Given the description of an element on the screen output the (x, y) to click on. 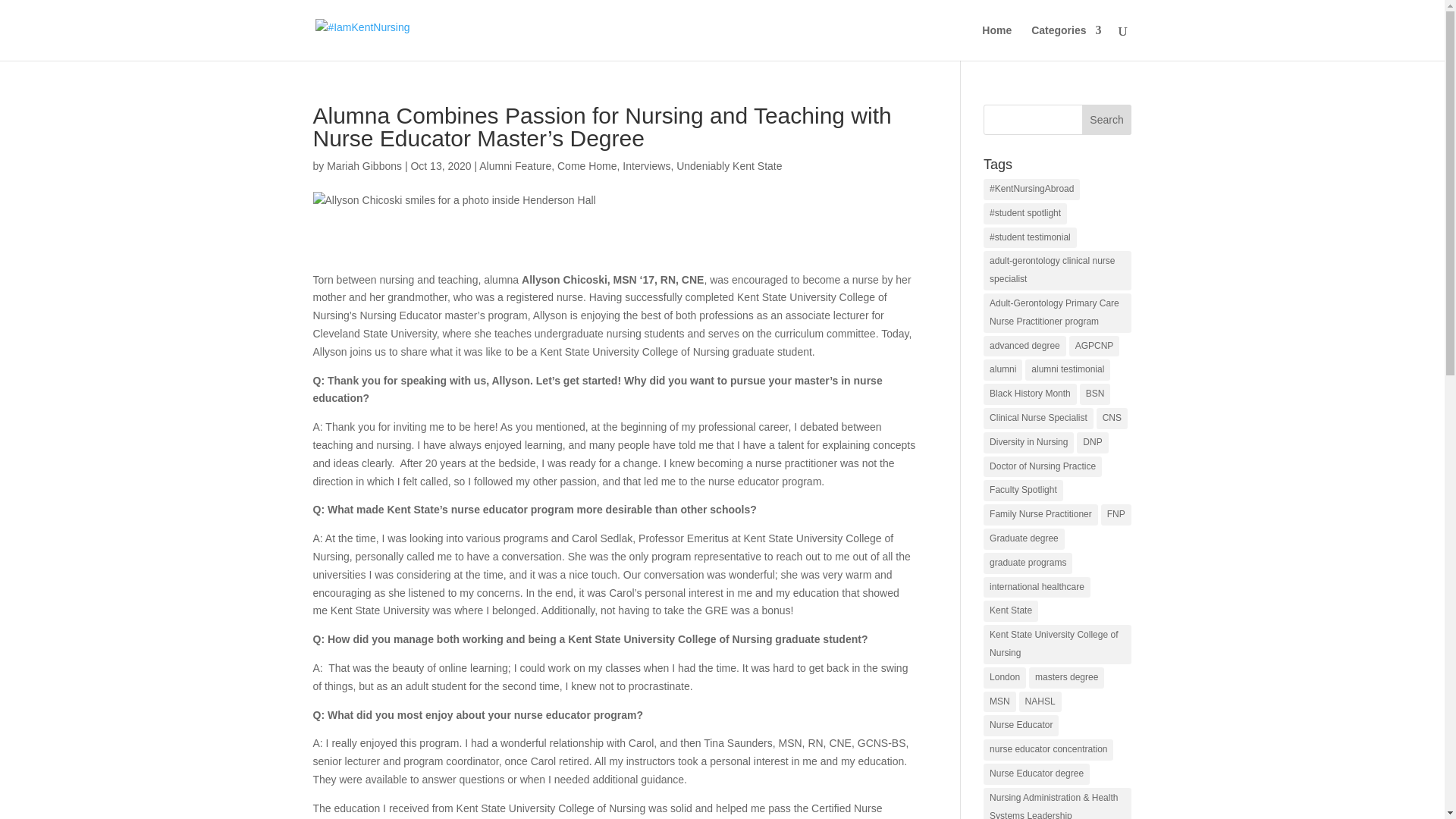
alumni testimonial (1067, 369)
Come Home (587, 165)
advanced degree (1024, 346)
adult-gerontology clinical nurse specialist (1057, 270)
Search (1106, 119)
BSN (1095, 394)
Posts by Mariah Gibbons (363, 165)
Categories (1065, 42)
AGPCNP (1093, 346)
Diversity in Nursing (1029, 442)
